Given the description of an element on the screen output the (x, y) to click on. 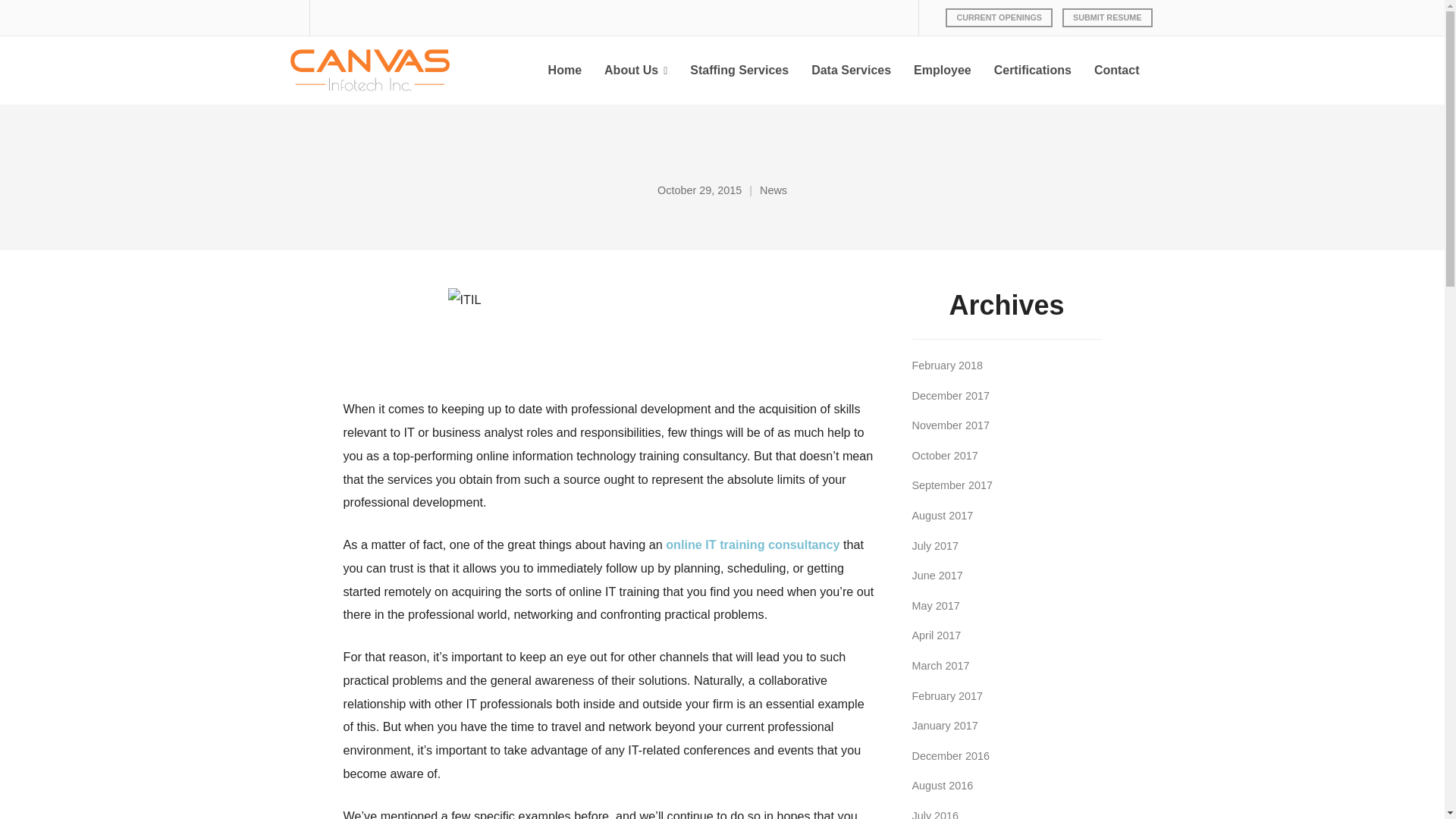
December 2017 (949, 395)
News (773, 190)
Certifications (1032, 70)
CURRENT OPENINGS (998, 17)
Employee (942, 70)
Certifications (1032, 70)
SUBMIT RESUME (1106, 17)
View all posts in News (773, 190)
Data Services (850, 70)
online IT training consultancy (752, 544)
